Given the description of an element on the screen output the (x, y) to click on. 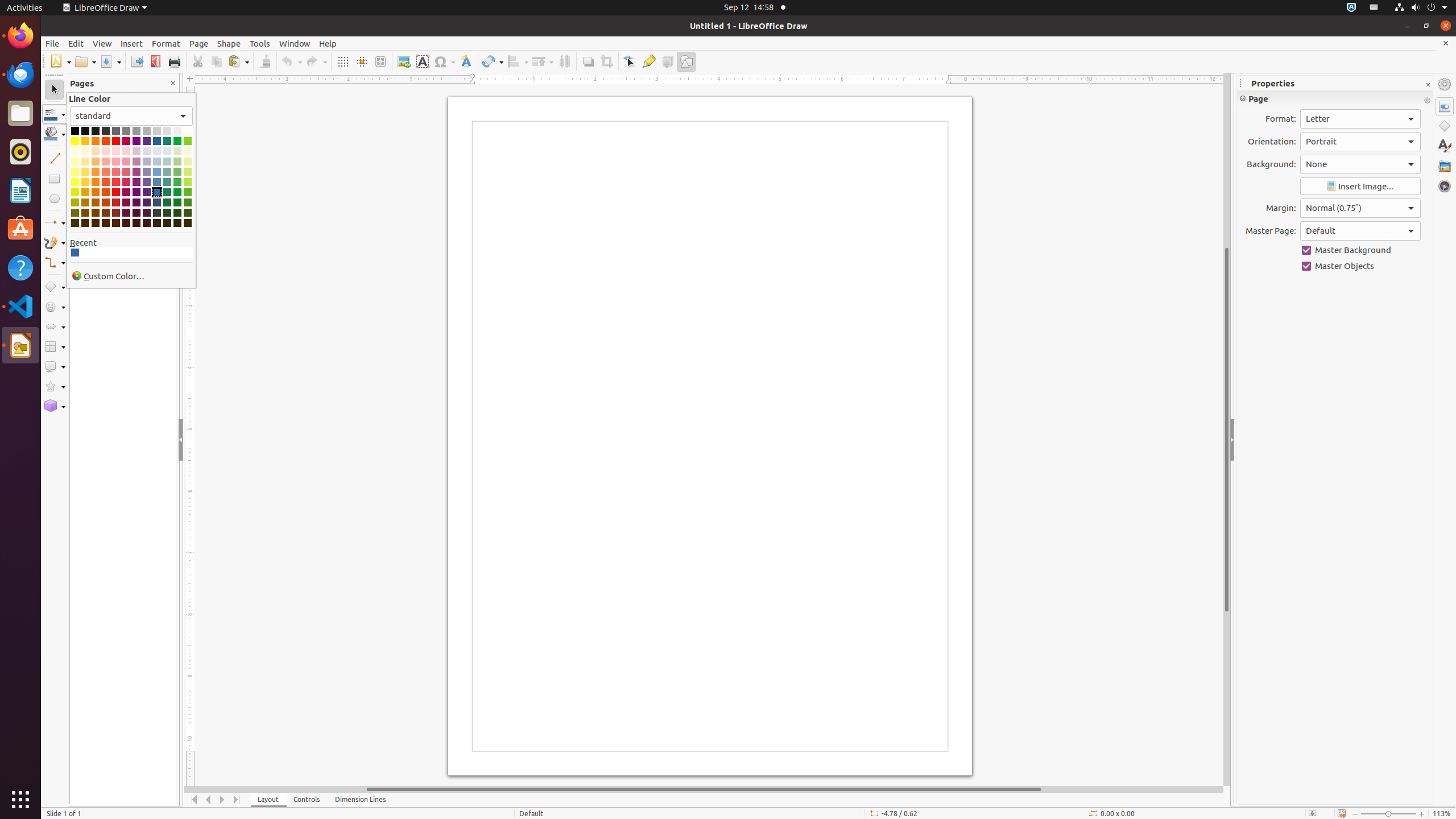
Visual Studio Code Element type: push-button (20, 306)
Star Shapes Element type: push-button (54, 386)
Close Pane Element type: push-button (172, 82)
Dark Indigo 2 Element type: list-item (146, 202)
Open Element type: push-button (84, 61)
